Given the description of an element on the screen output the (x, y) to click on. 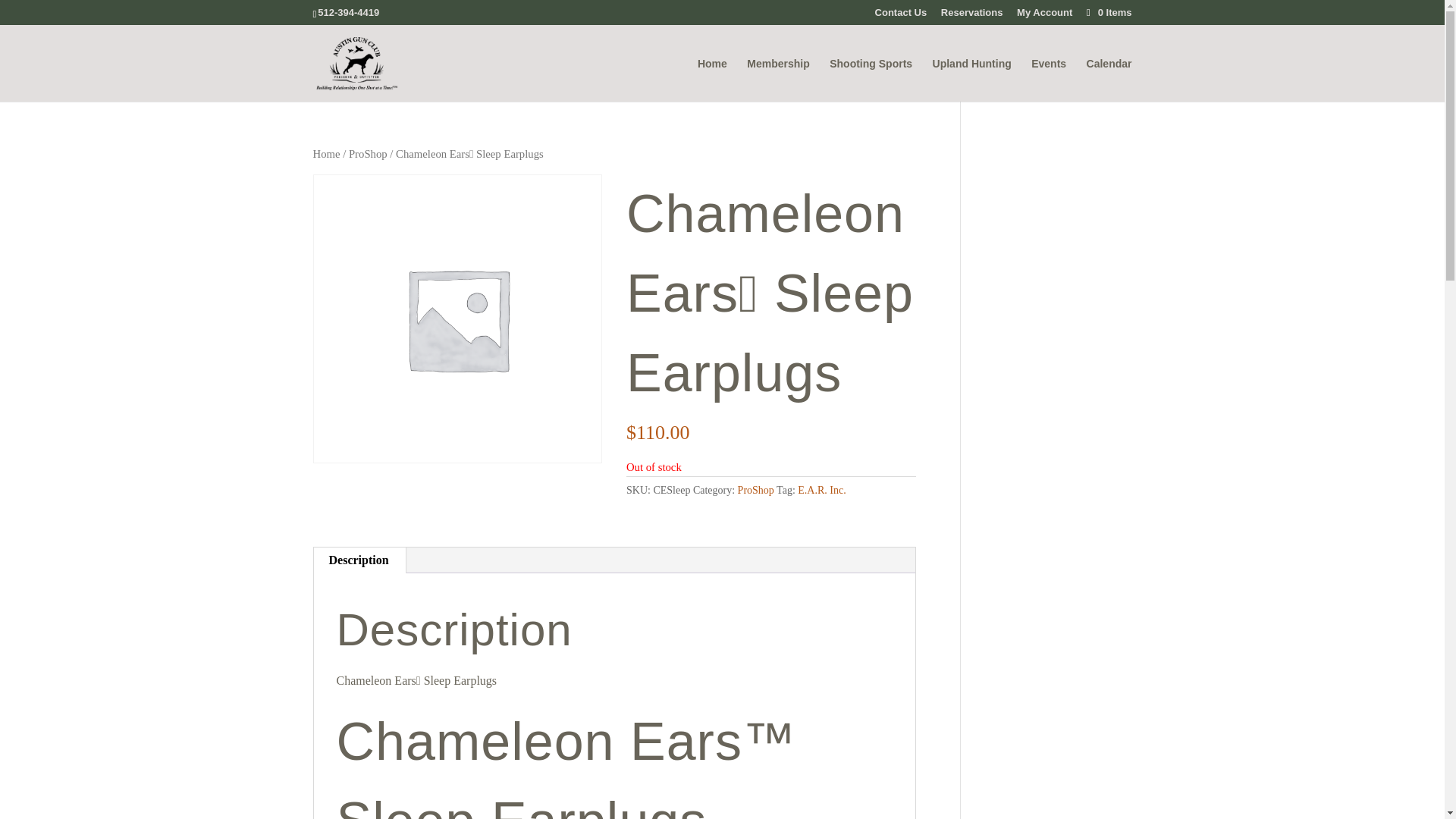
E.A.R. Inc. (821, 490)
Upland Hunting (972, 78)
0 Items (1107, 12)
ProShop (756, 490)
ProShop (368, 153)
Membership (777, 78)
Shooting Sports (870, 78)
Calendar (1109, 78)
My Account (1043, 16)
Home (326, 153)
Contact Us (901, 16)
Description (359, 560)
Reservations (971, 16)
